Given the description of an element on the screen output the (x, y) to click on. 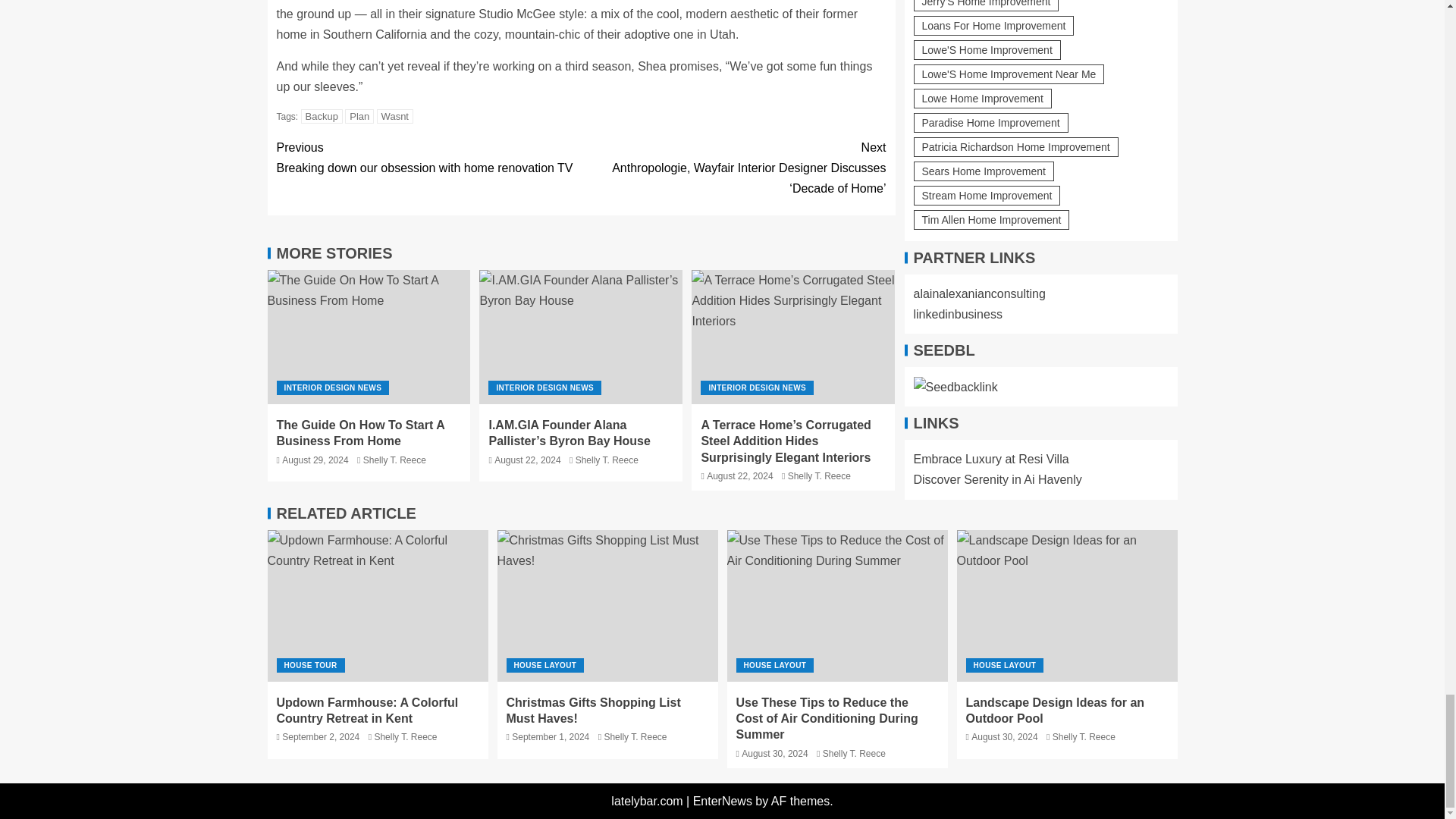
Plan (428, 157)
Backup (359, 115)
The Guide On How To Start A Business From Home (321, 115)
Wasnt (368, 337)
